Given the description of an element on the screen output the (x, y) to click on. 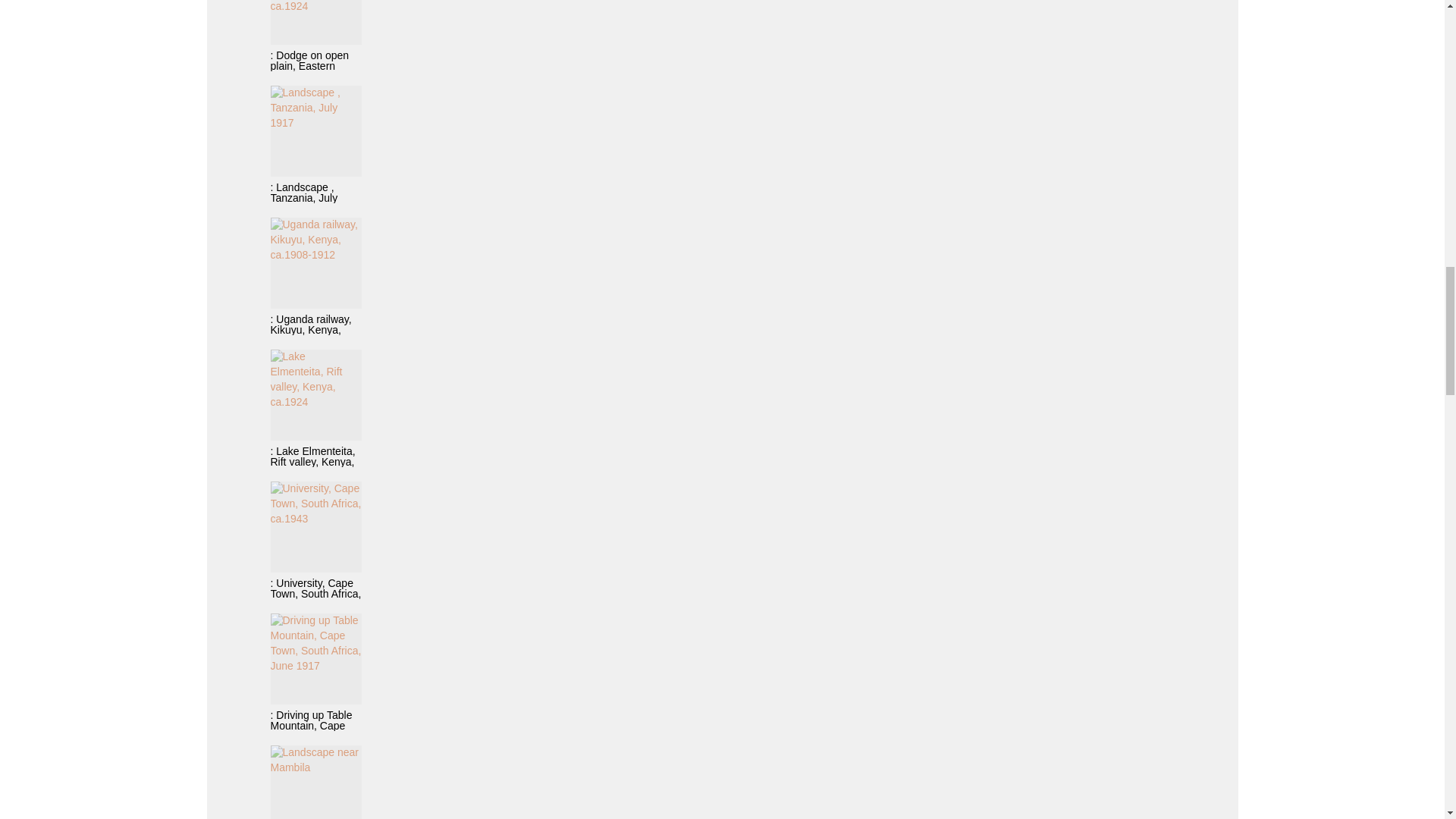
: Uganda railway, Kikuyu, Kenya, ca.1908-1912 (315, 275)
: Landscape , Tanzania, July 1917 (315, 144)
: Dodge on open plain, Eastern province, Kenya, ca.1924 (315, 35)
